Given the description of an element on the screen output the (x, y) to click on. 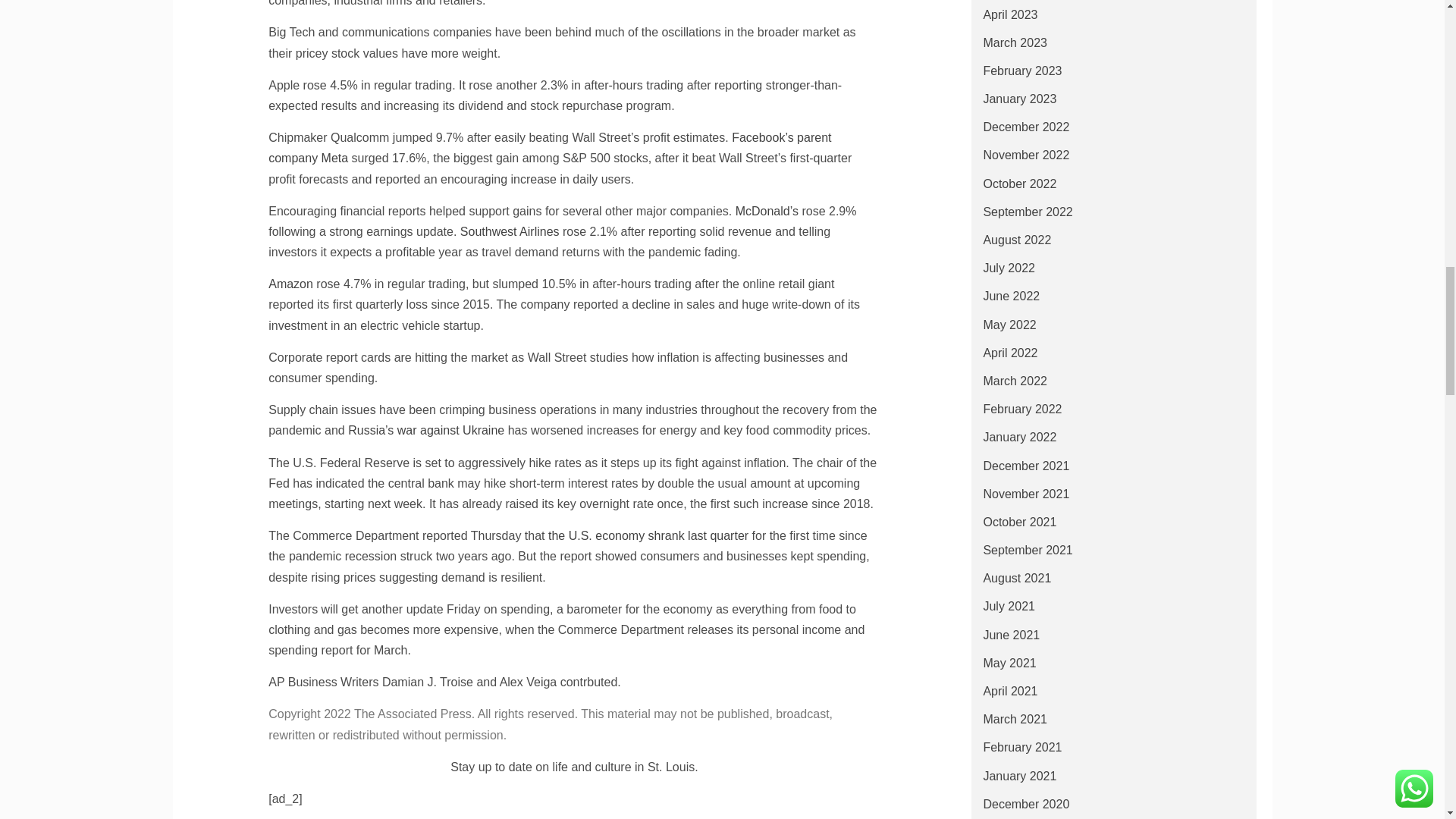
Amazon (290, 283)
Southwest Airlines (509, 231)
